Given the description of an element on the screen output the (x, y) to click on. 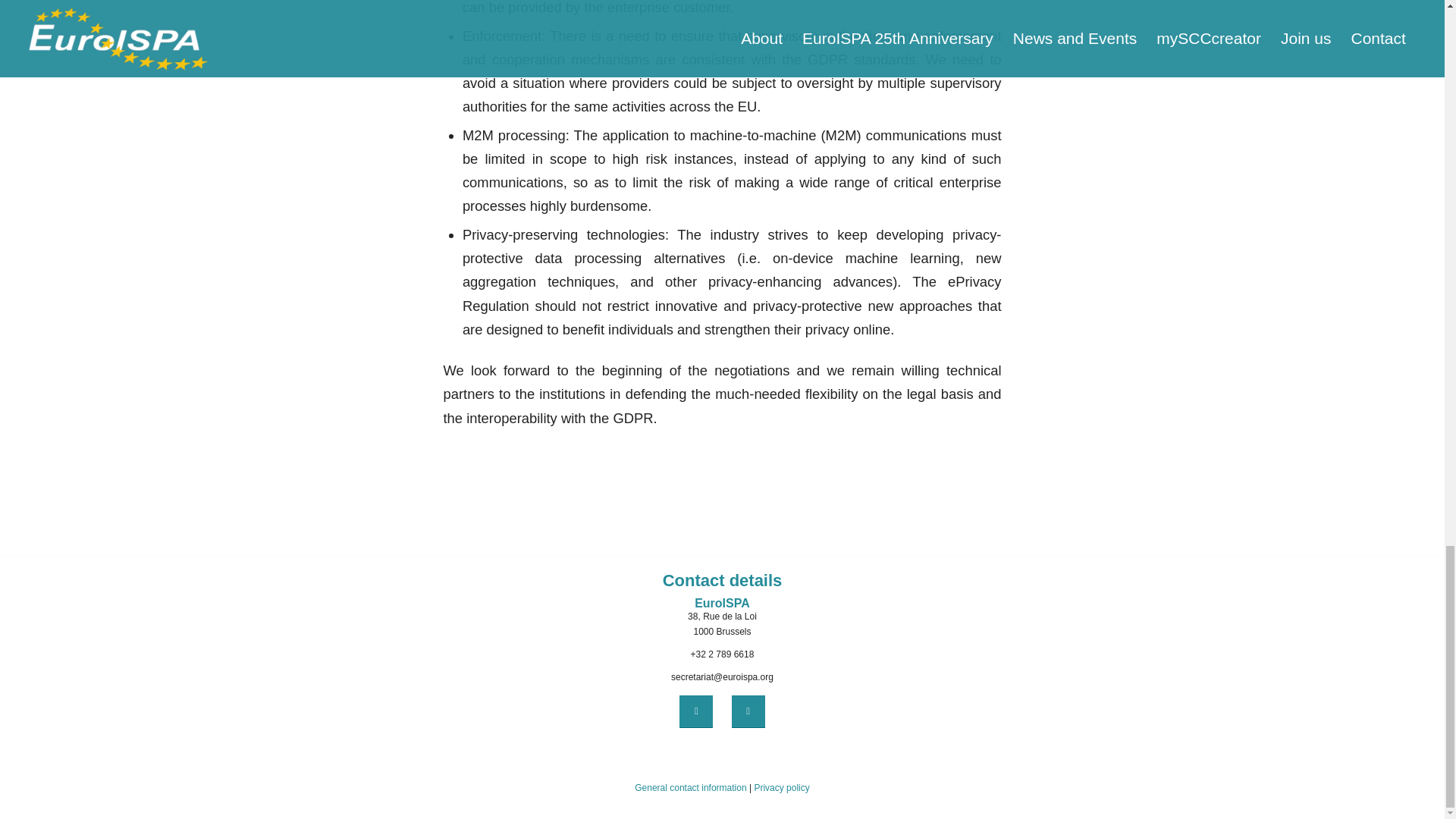
Privacy policy (781, 787)
General contact information (689, 787)
